Given the description of an element on the screen output the (x, y) to click on. 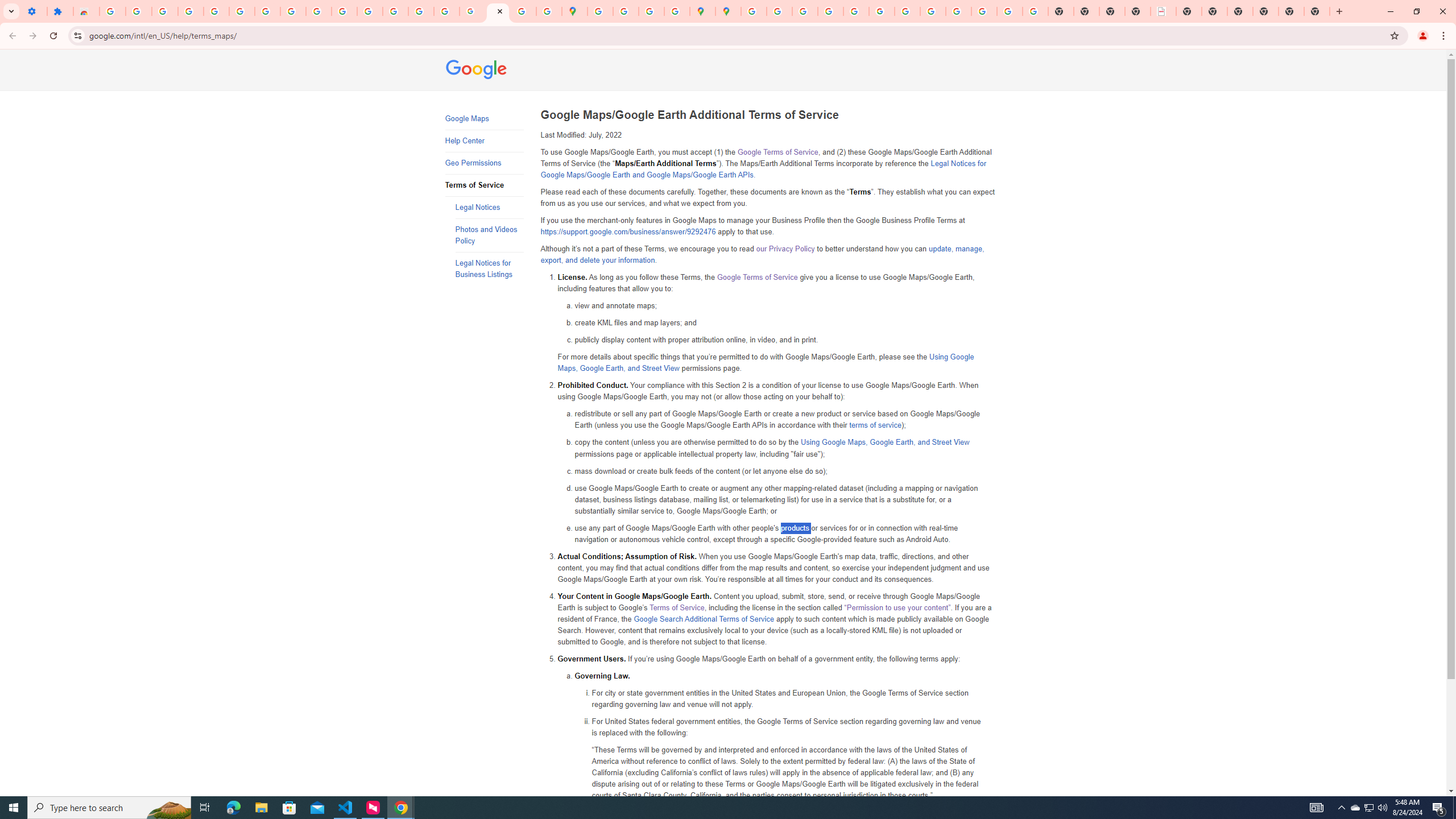
New Tab (1265, 11)
update, manage, export, and delete your information (762, 254)
Settings - On startup (34, 11)
terms of service (874, 424)
our Privacy Policy (785, 248)
Google Terms of Service (756, 276)
